Given the description of an element on the screen output the (x, y) to click on. 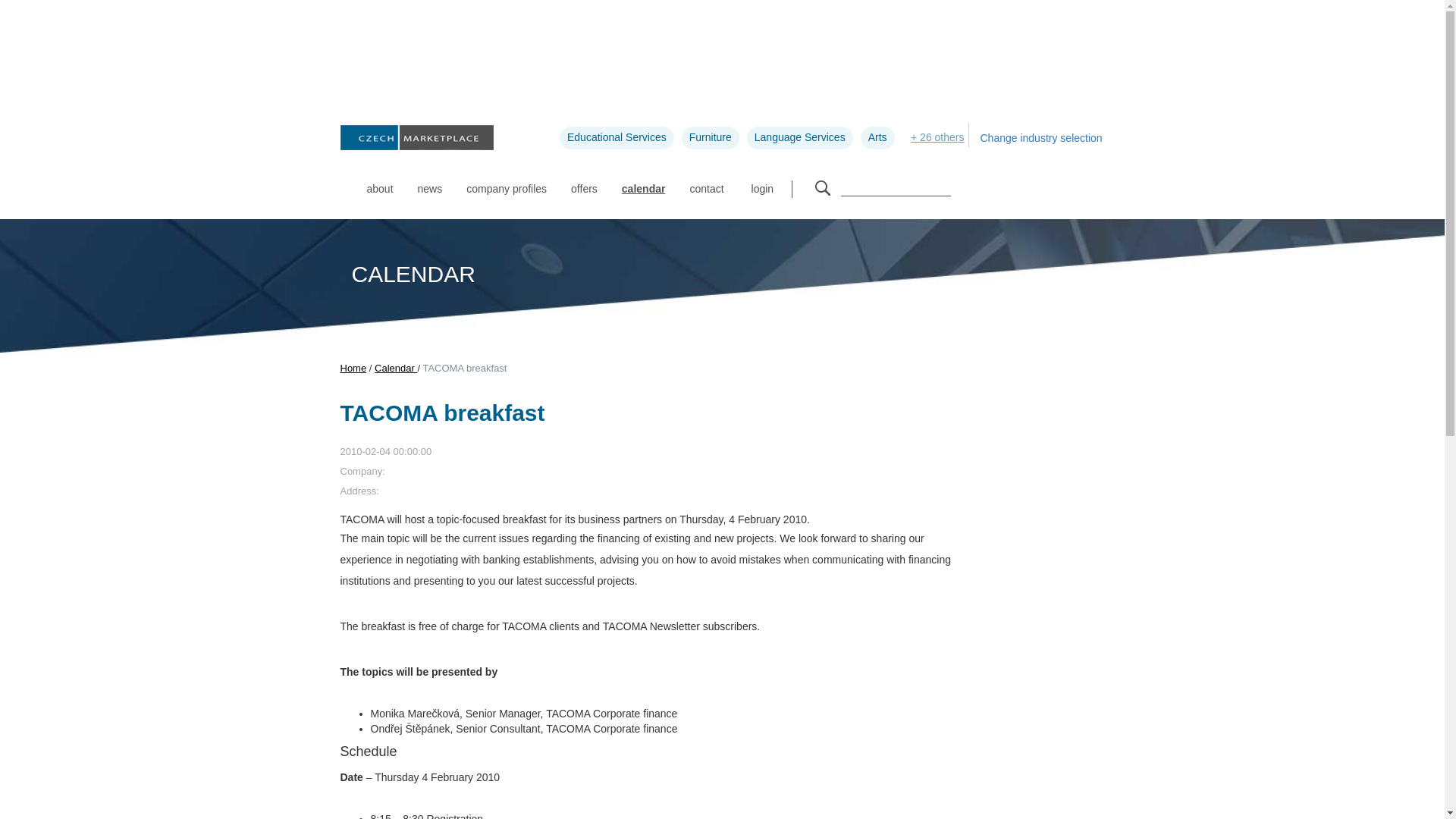
Search (822, 187)
contact (706, 180)
calendar (644, 180)
company profiles (506, 180)
Change industry selection (1041, 137)
offers (584, 180)
Calendar (395, 367)
login (771, 188)
news (430, 180)
Home (352, 367)
